Given the description of an element on the screen output the (x, y) to click on. 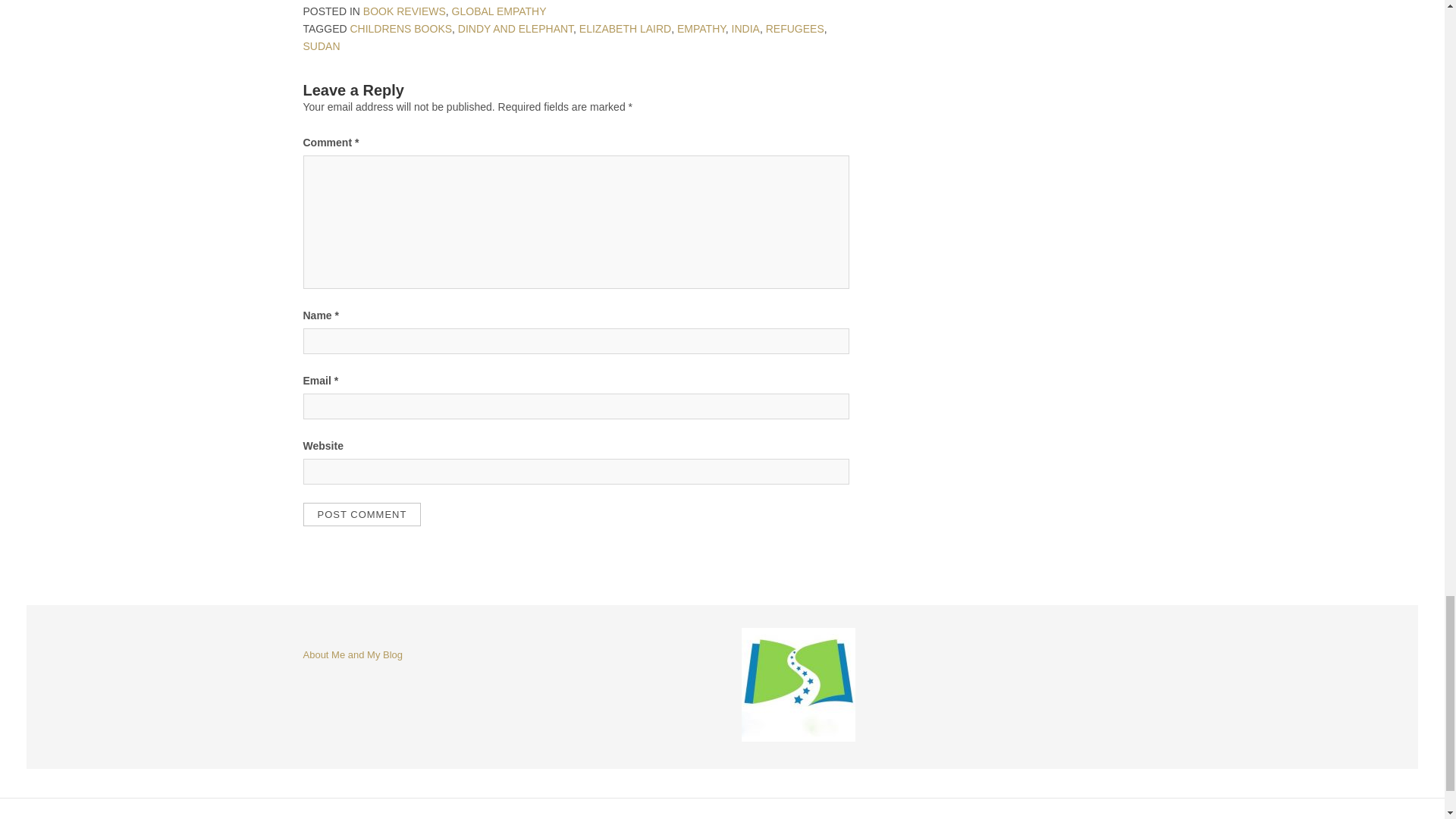
ELIZABETH LAIRD (625, 28)
EMPATHY (701, 28)
GLOBAL EMPATHY (499, 10)
INDIA (746, 28)
DINDY AND ELEPHANT (515, 28)
REFUGEES (794, 28)
About Me and My Blog (352, 654)
Post Comment (362, 514)
CHILDRENS BOOKS (400, 28)
SUDAN (321, 46)
Post Comment (362, 514)
BOOK REVIEWS (403, 10)
